Given the description of an element on the screen output the (x, y) to click on. 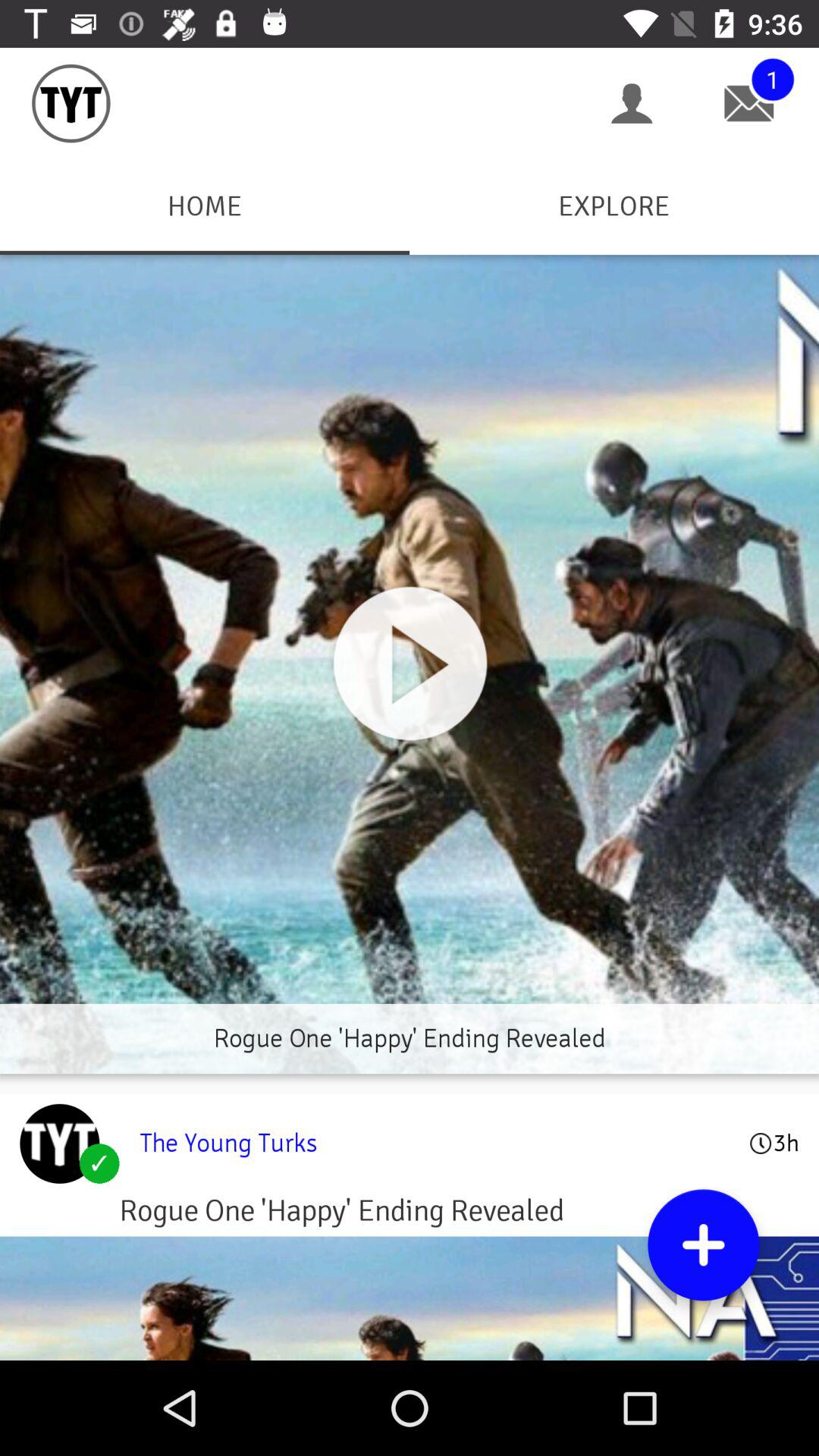
select item above explore item (631, 103)
